Given the description of an element on the screen output the (x, y) to click on. 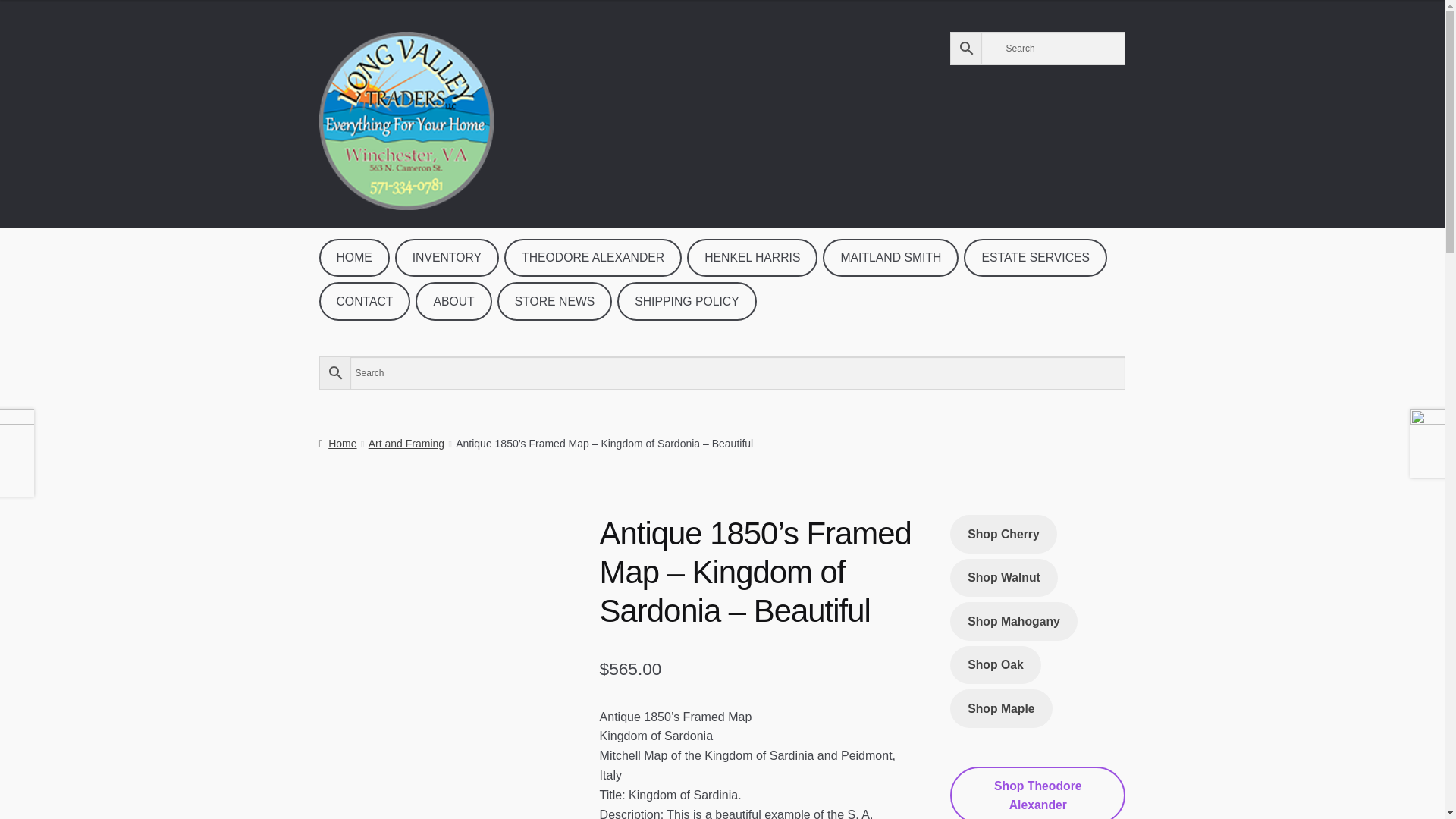
HENKEL HARRIS (751, 257)
SHIPPING POLICY (686, 300)
INVENTORY (446, 257)
THEODORE ALEXANDER (592, 257)
Art and Framing (406, 443)
ESTATE SERVICES (1034, 257)
STORE NEWS (554, 300)
ABOUT (453, 300)
HOME (354, 257)
